Given the description of an element on the screen output the (x, y) to click on. 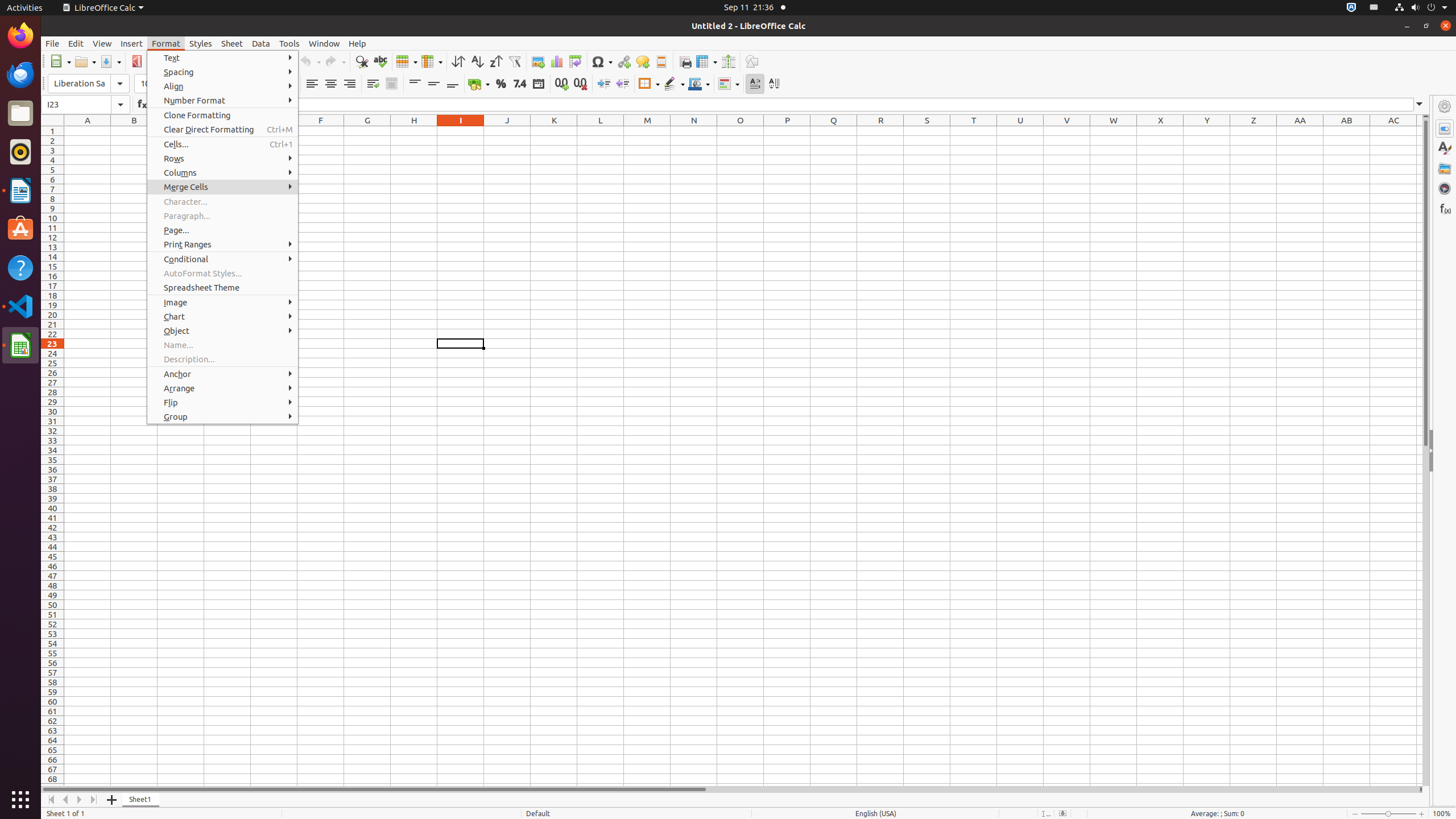
Description... Element type: menu-item (222, 359)
Move Right Element type: push-button (79, 799)
Text Element type: menu (222, 57)
Font Name Element type: panel (88, 83)
